Given the description of an element on the screen output the (x, y) to click on. 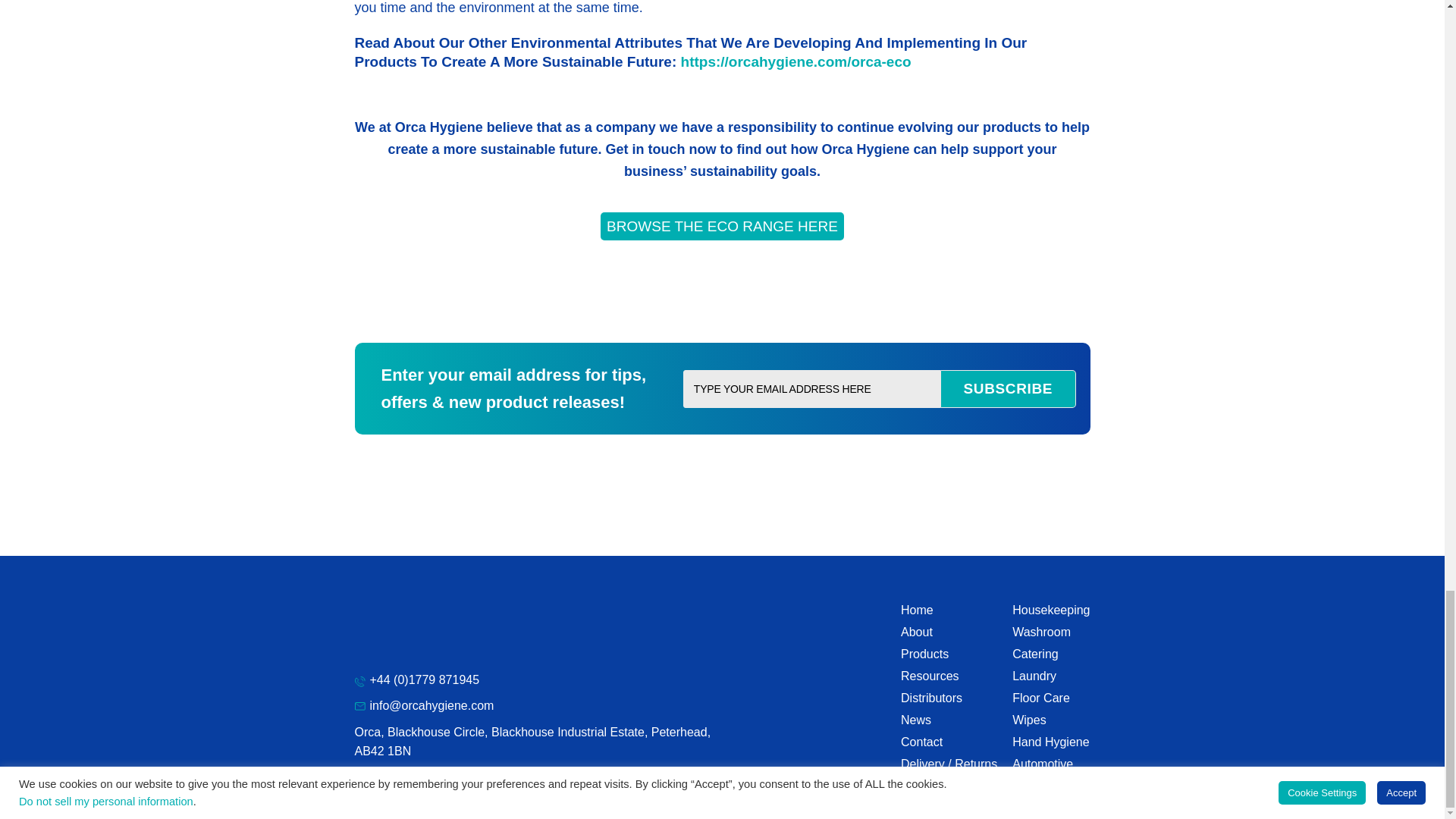
SUBSCRIBE (1007, 388)
